Given the description of an element on the screen output the (x, y) to click on. 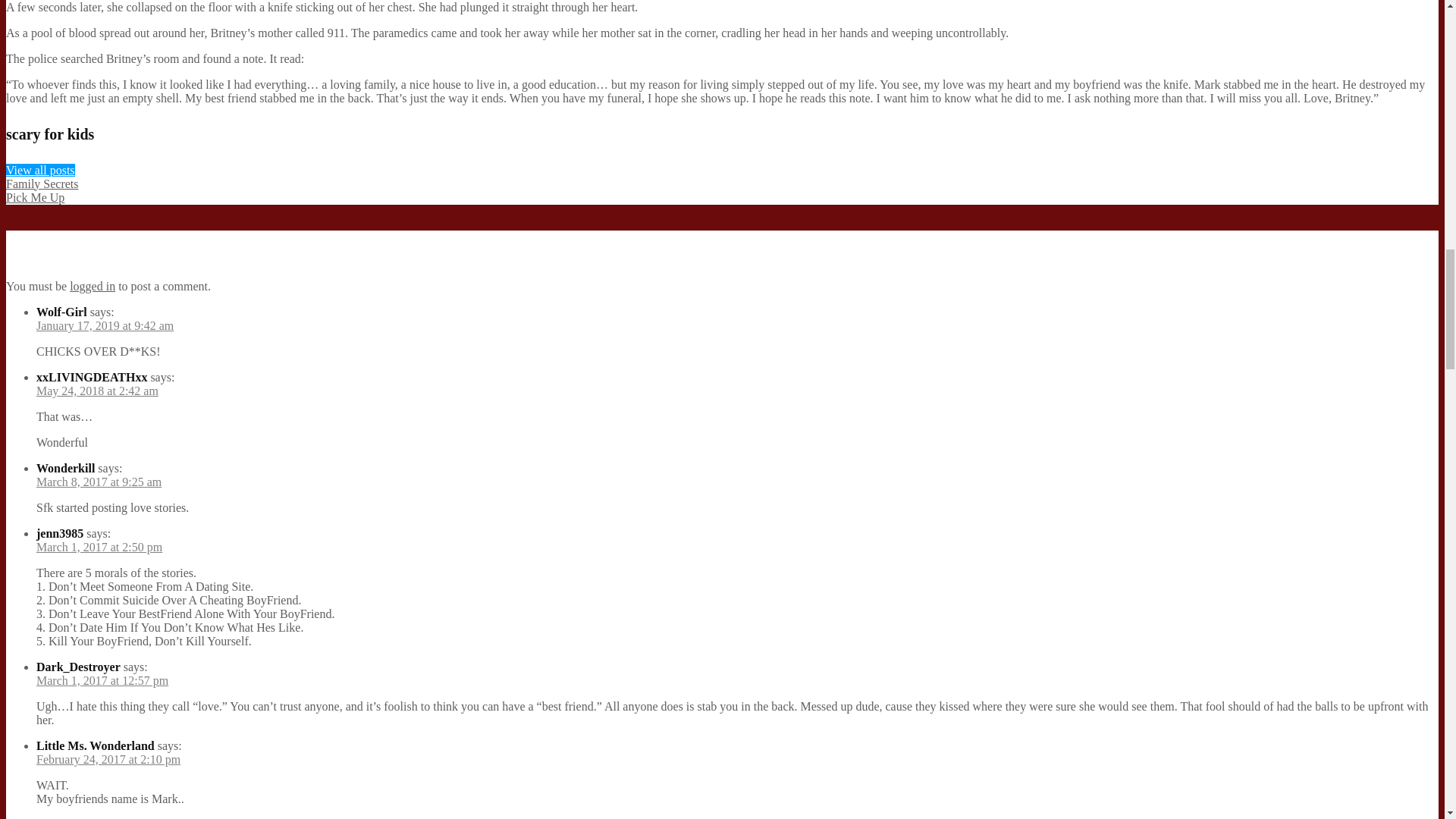
logged in (92, 286)
March 1, 2017 at 2:50 pm (98, 546)
February 24, 2017 at 2:10 pm (108, 758)
March 8, 2017 at 9:25 am (98, 481)
View all posts (40, 169)
May 24, 2018 at 2:42 am (97, 390)
Family Secrets (41, 183)
January 17, 2019 at 9:42 am (104, 325)
March 1, 2017 at 12:57 pm (102, 680)
Pick Me Up (34, 196)
